Given the description of an element on the screen output the (x, y) to click on. 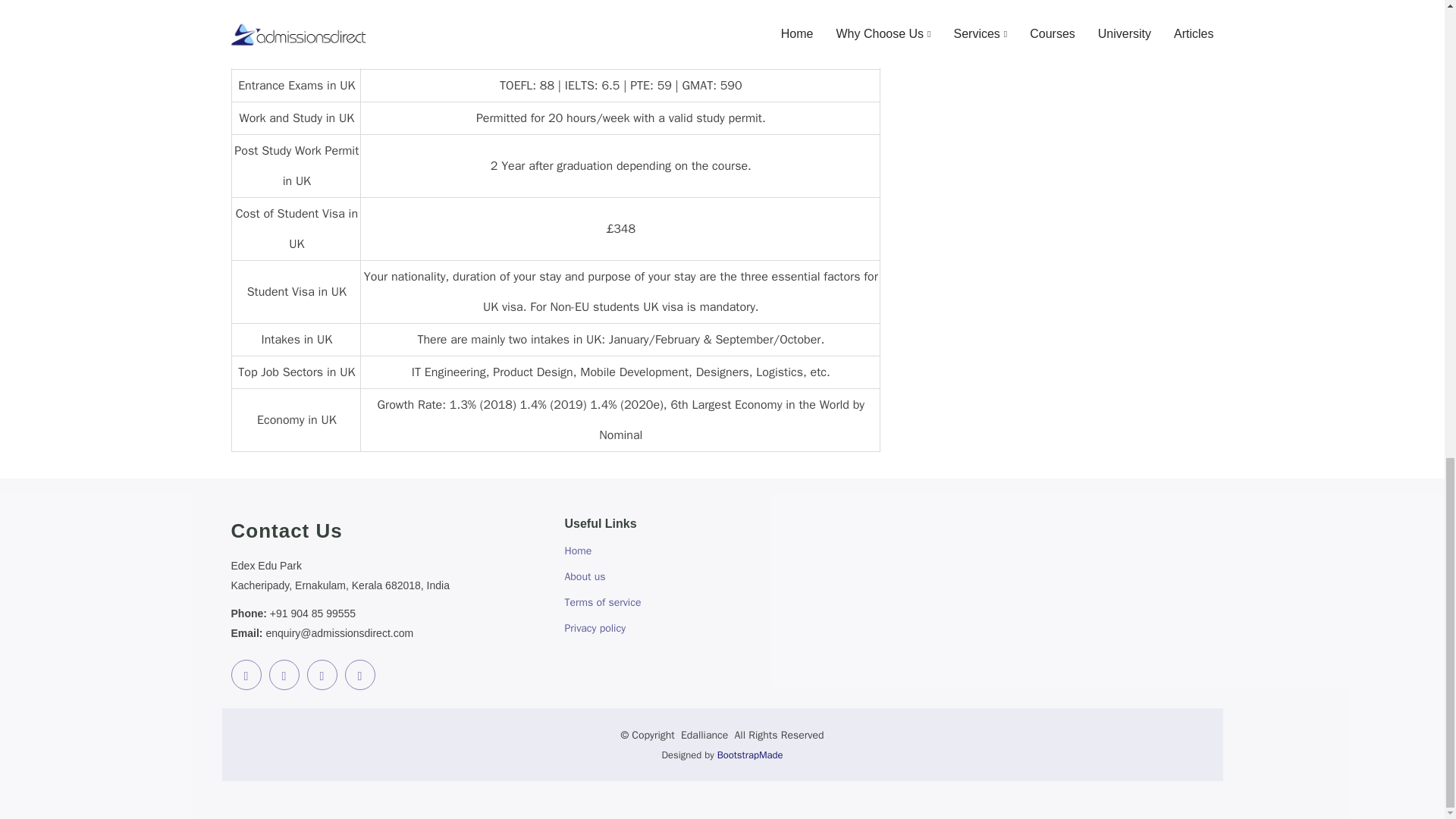
Home (577, 551)
Terms of service (602, 602)
Privacy policy (595, 628)
About us (584, 576)
BootstrapMade (750, 754)
Contact Us (388, 531)
